Given the description of an element on the screen output the (x, y) to click on. 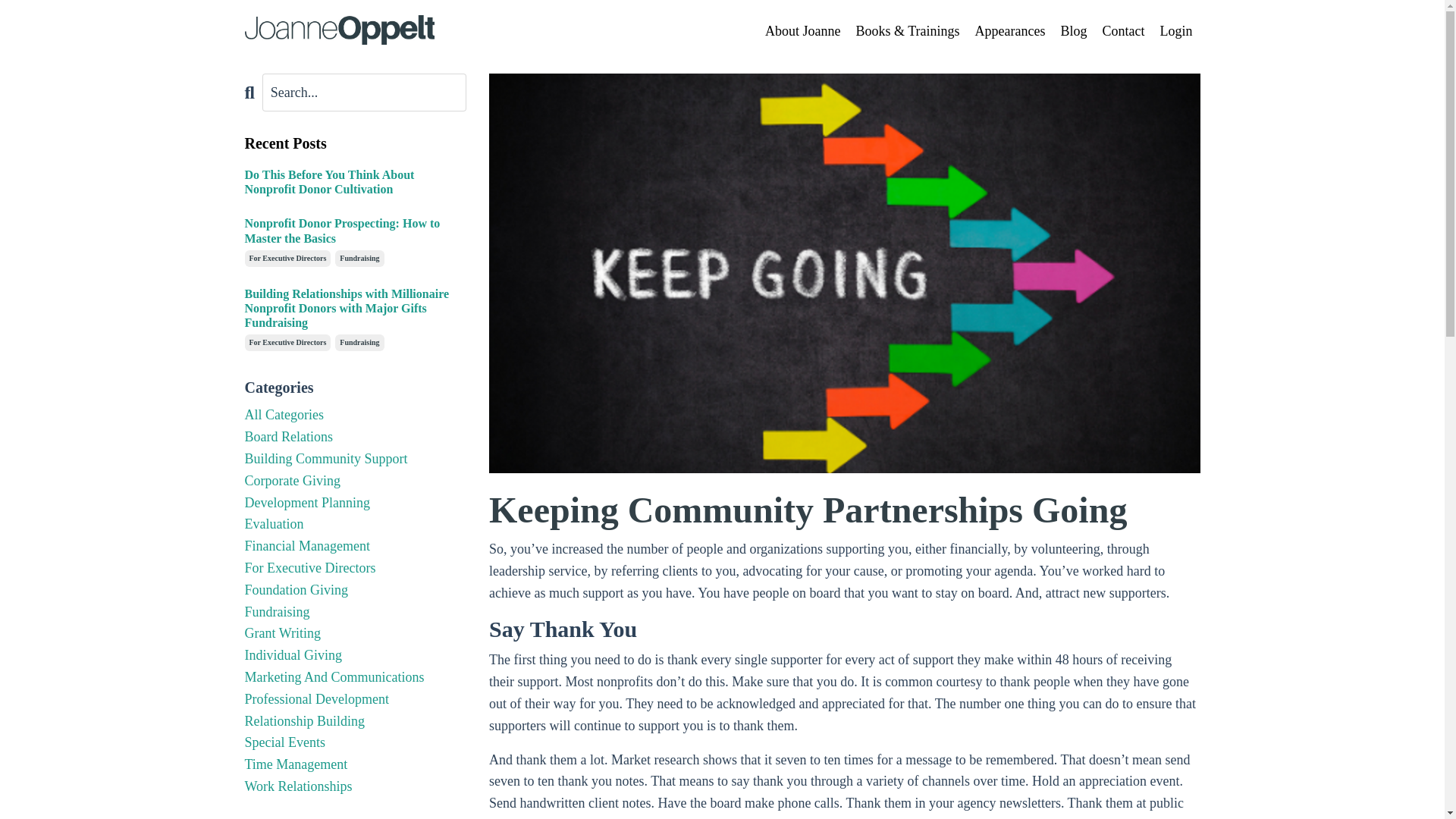
Contact (1123, 31)
Building Community Support (354, 458)
Financial Management (354, 546)
Grant Writing (354, 633)
Work Relationships (354, 786)
Fundraising (359, 258)
Login (1176, 31)
Time Management (354, 764)
Nonprofit Donor Prospecting: How to Master the Basics (354, 230)
For Executive Directors (287, 342)
